Given the description of an element on the screen output the (x, y) to click on. 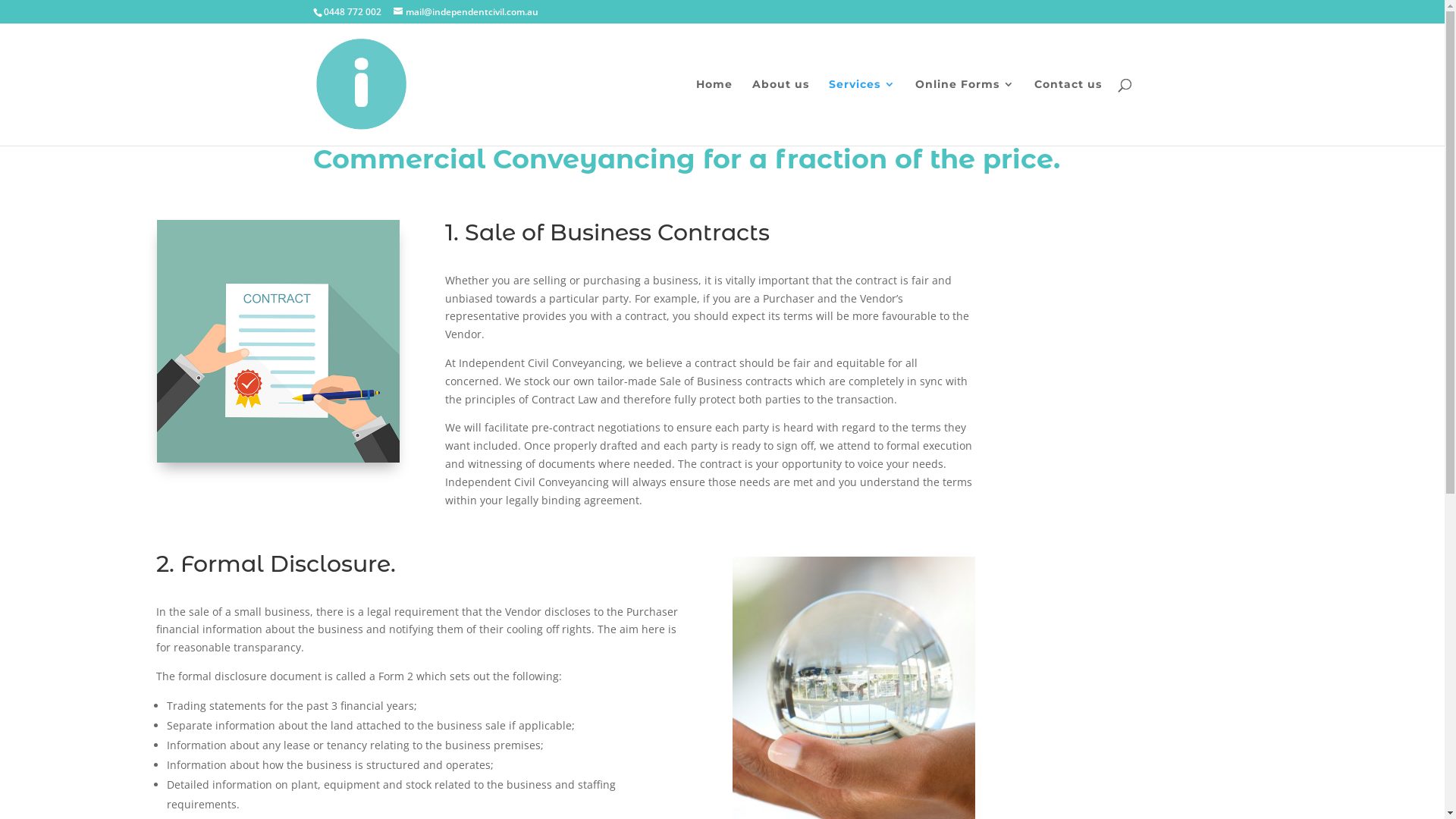
Services Element type: text (861, 111)
Online Forms Element type: text (963, 111)
mail@independentcivil.com.au Element type: text (464, 11)
Contact us Element type: text (1067, 111)
Home Element type: text (714, 111)
About us Element type: text (780, 111)
